Given the description of an element on the screen output the (x, y) to click on. 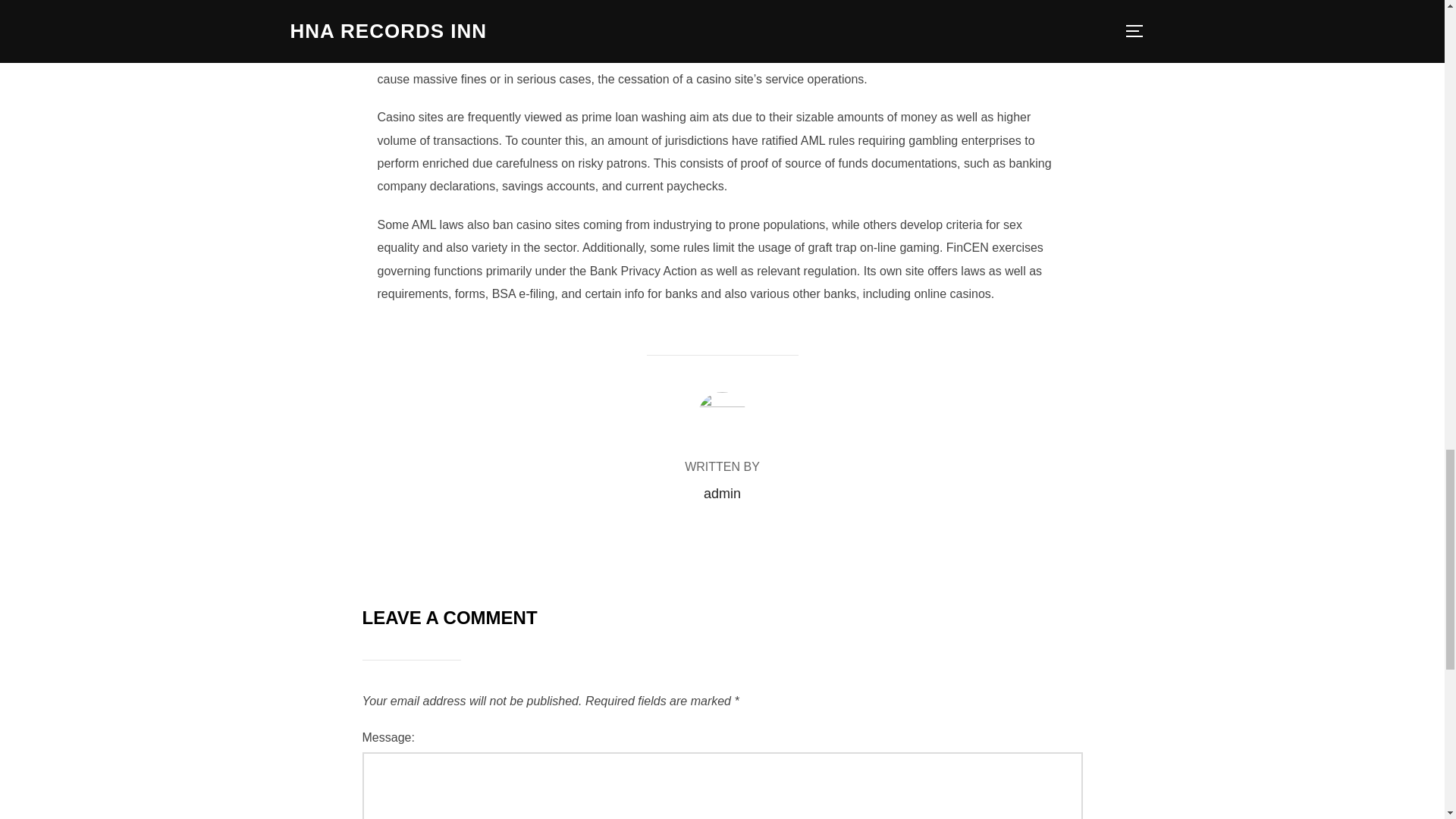
admin (722, 493)
Posts by admin (722, 493)
